Given the description of an element on the screen output the (x, y) to click on. 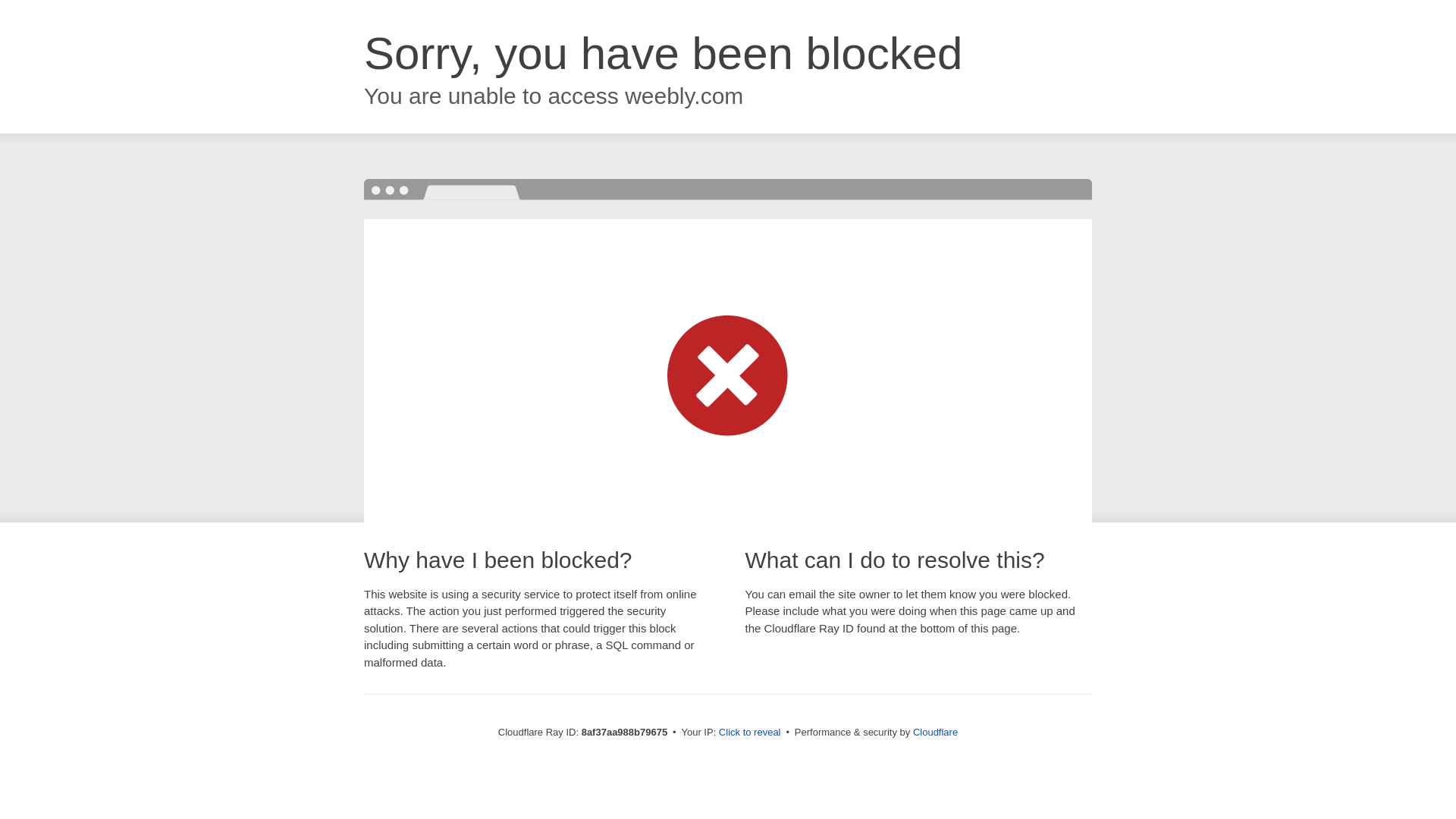
Cloudflare (935, 731)
Click to reveal (749, 732)
